Given the description of an element on the screen output the (x, y) to click on. 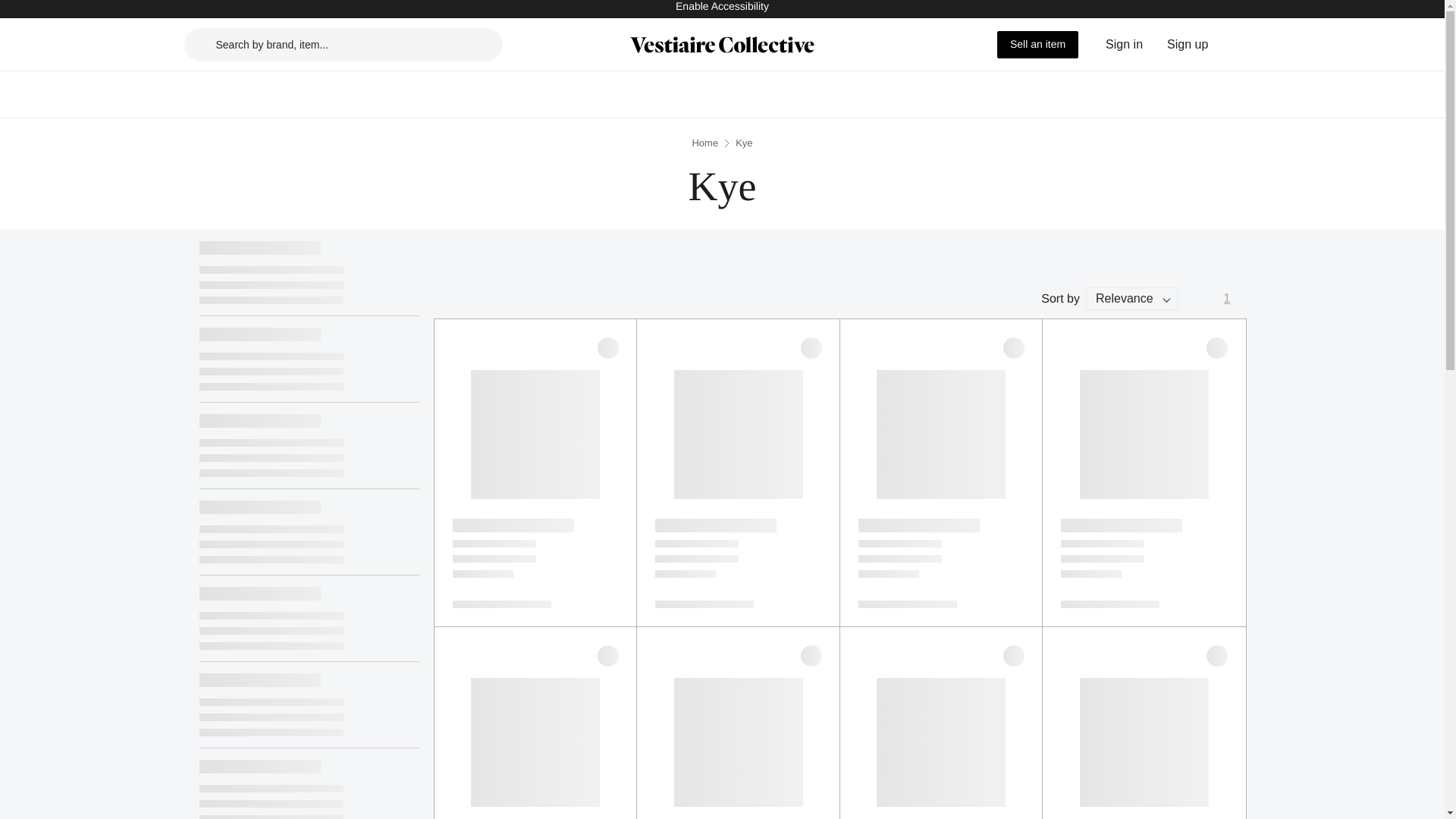
Search by brand, item... (342, 43)
Sell an item (1037, 43)
Sign in (1123, 44)
Home (704, 142)
Sign up (1187, 44)
Relevance (1131, 298)
